Given the description of an element on the screen output the (x, y) to click on. 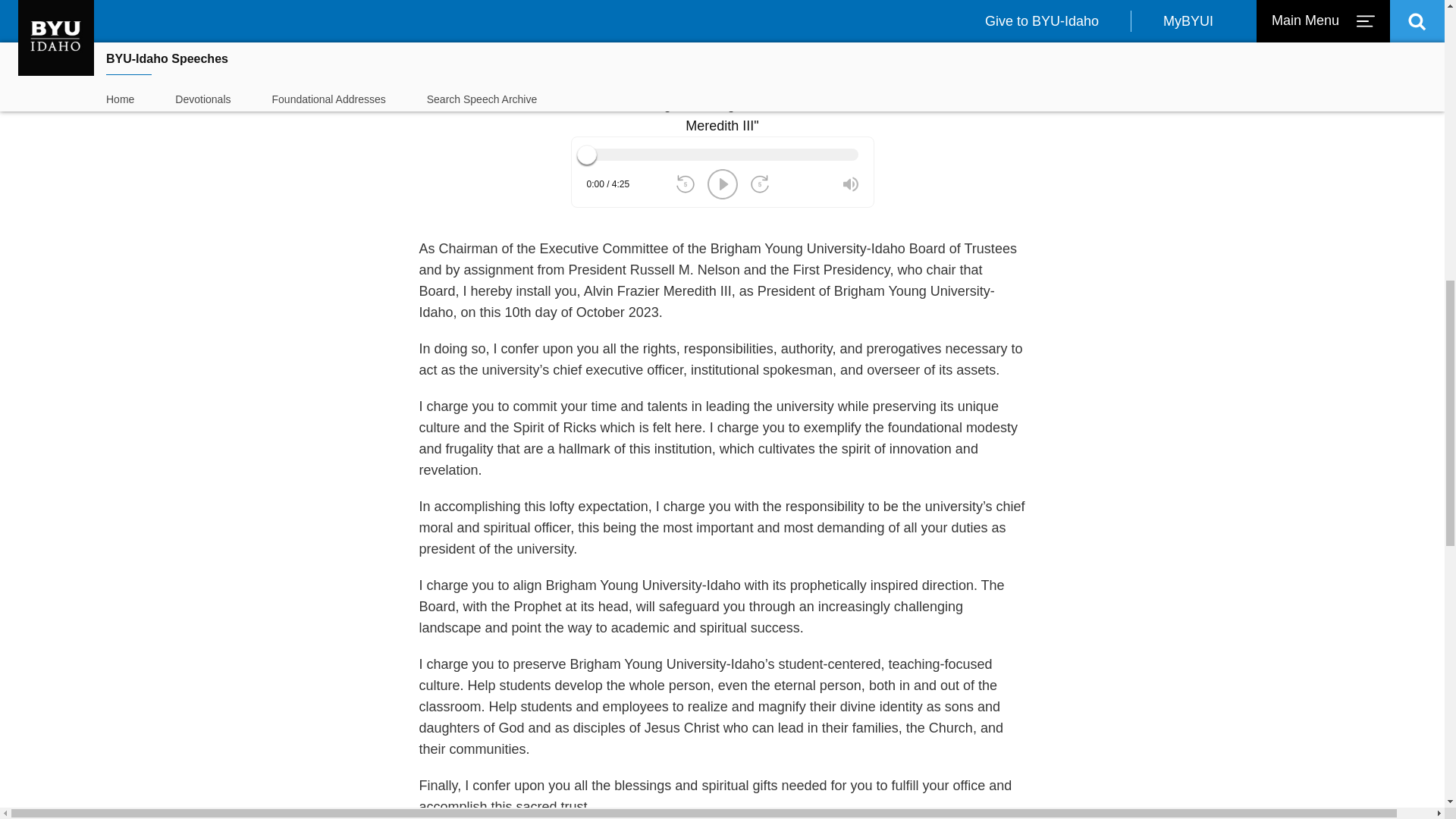
The Kaltura Dynamic Video Player (722, 28)
0 (721, 154)
